Given the description of an element on the screen output the (x, y) to click on. 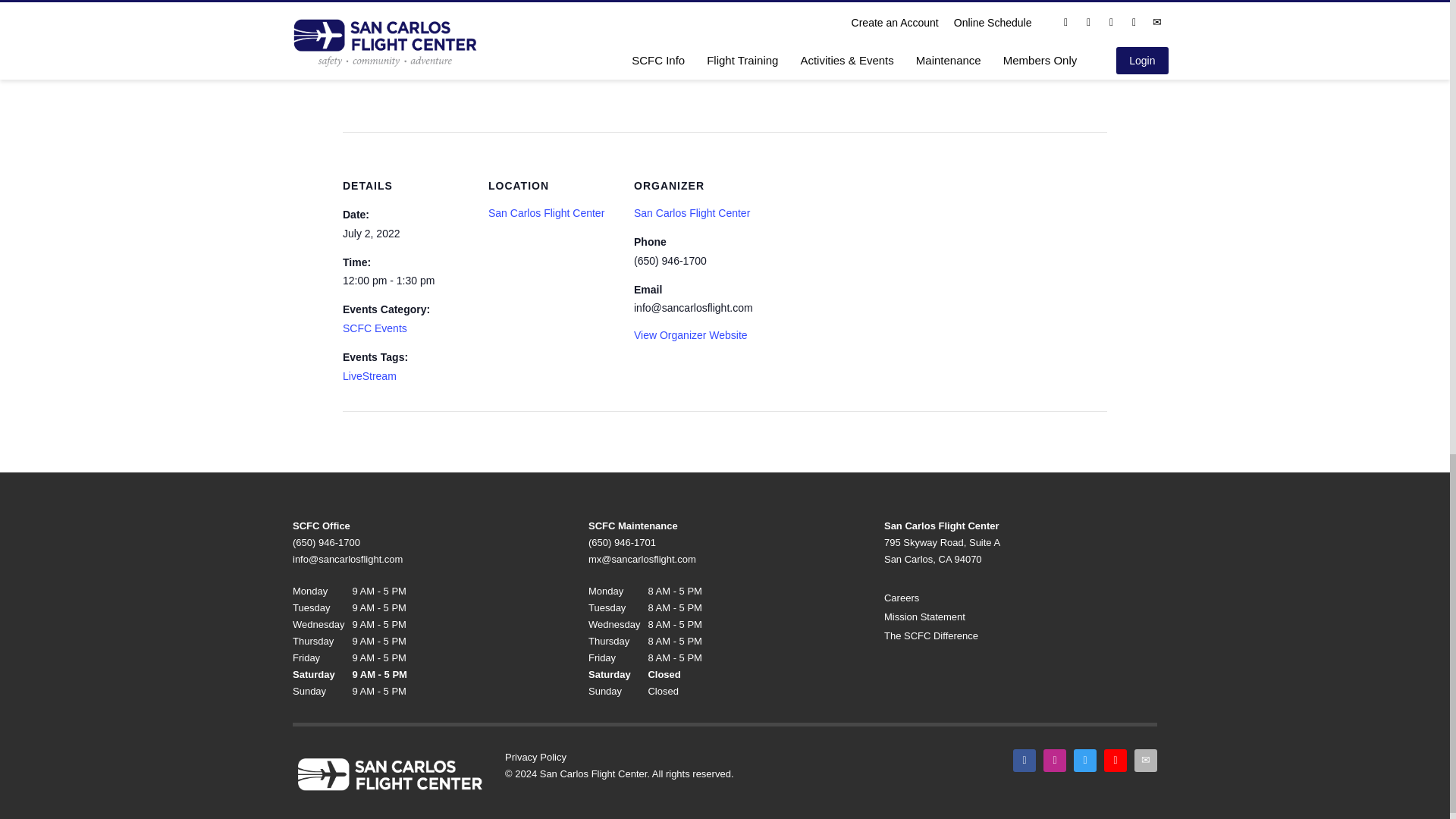
San Carlos Flight Center (691, 213)
YouTube (1114, 760)
Facebook (1024, 760)
Email (1145, 760)
Twitter (1085, 760)
2022-07-02 (406, 281)
2022-07-02 (371, 233)
Instagram (1054, 760)
